Given the description of an element on the screen output the (x, y) to click on. 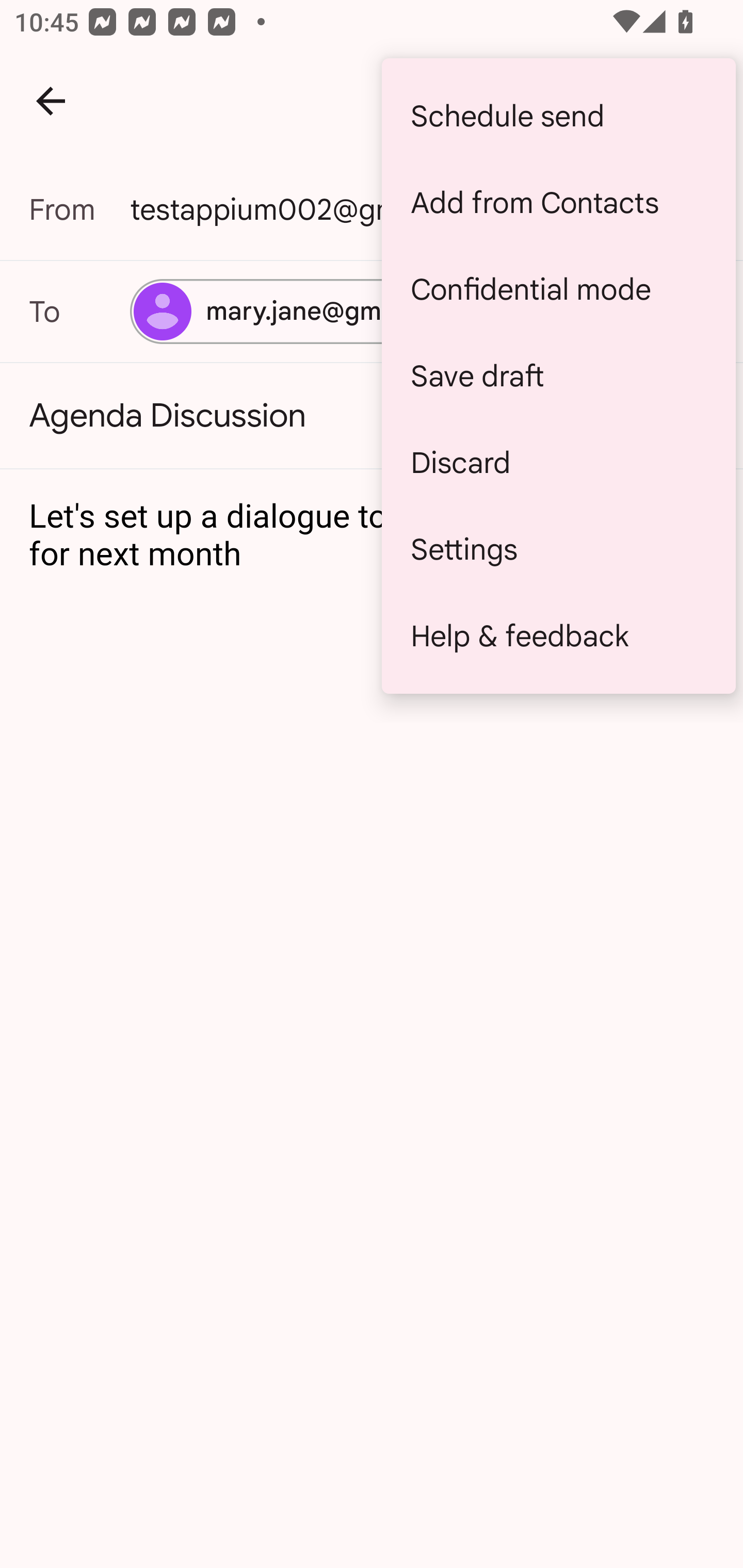
Schedule send (558, 115)
Add from Contacts (558, 202)
Confidential mode (558, 289)
Save draft (558, 375)
Discard (558, 462)
Settings (558, 549)
Help & feedback (558, 635)
